Given the description of an element on the screen output the (x, y) to click on. 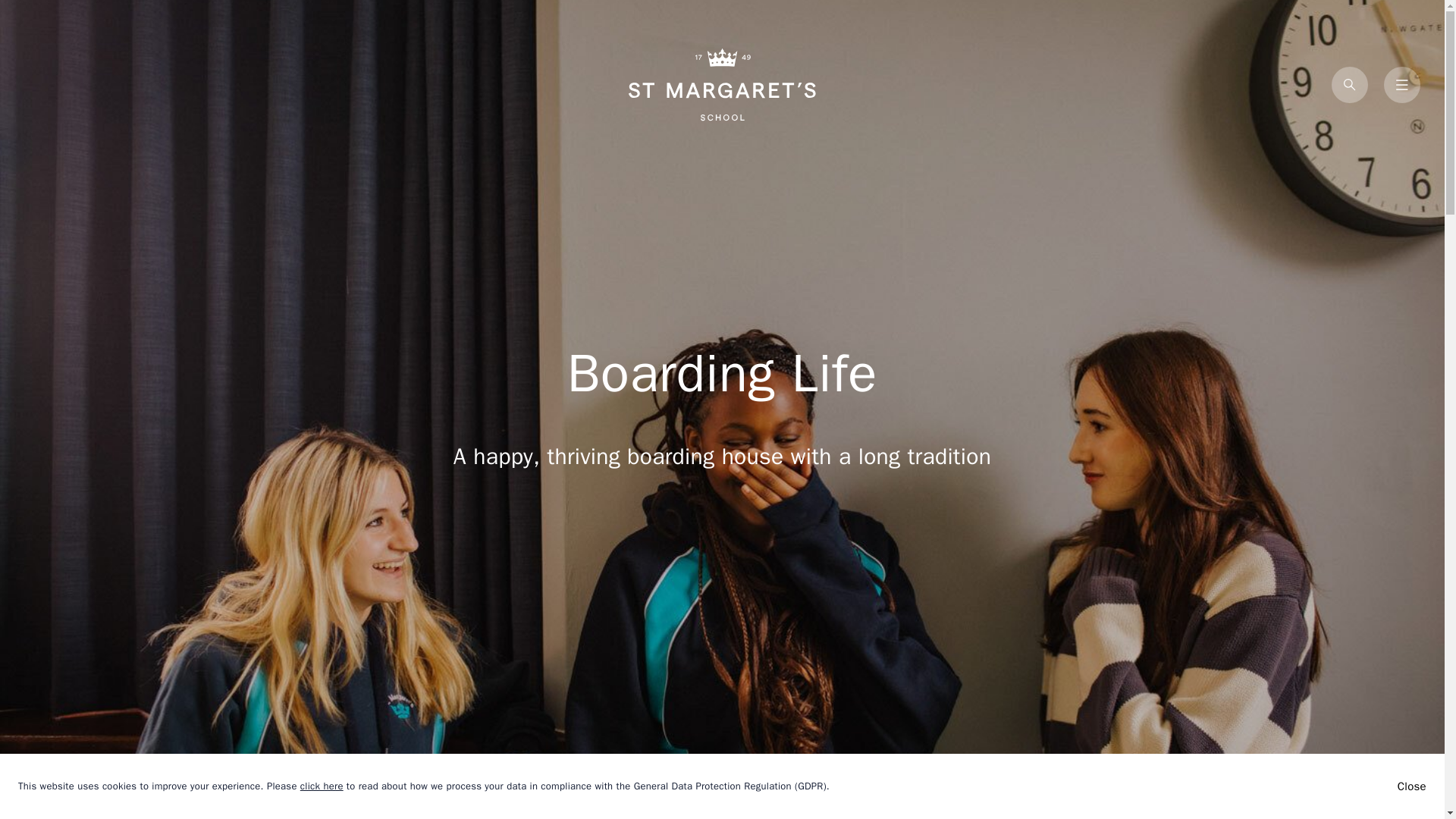
Open Menu (1402, 84)
Open Search (1350, 84)
